Given the description of an element on the screen output the (x, y) to click on. 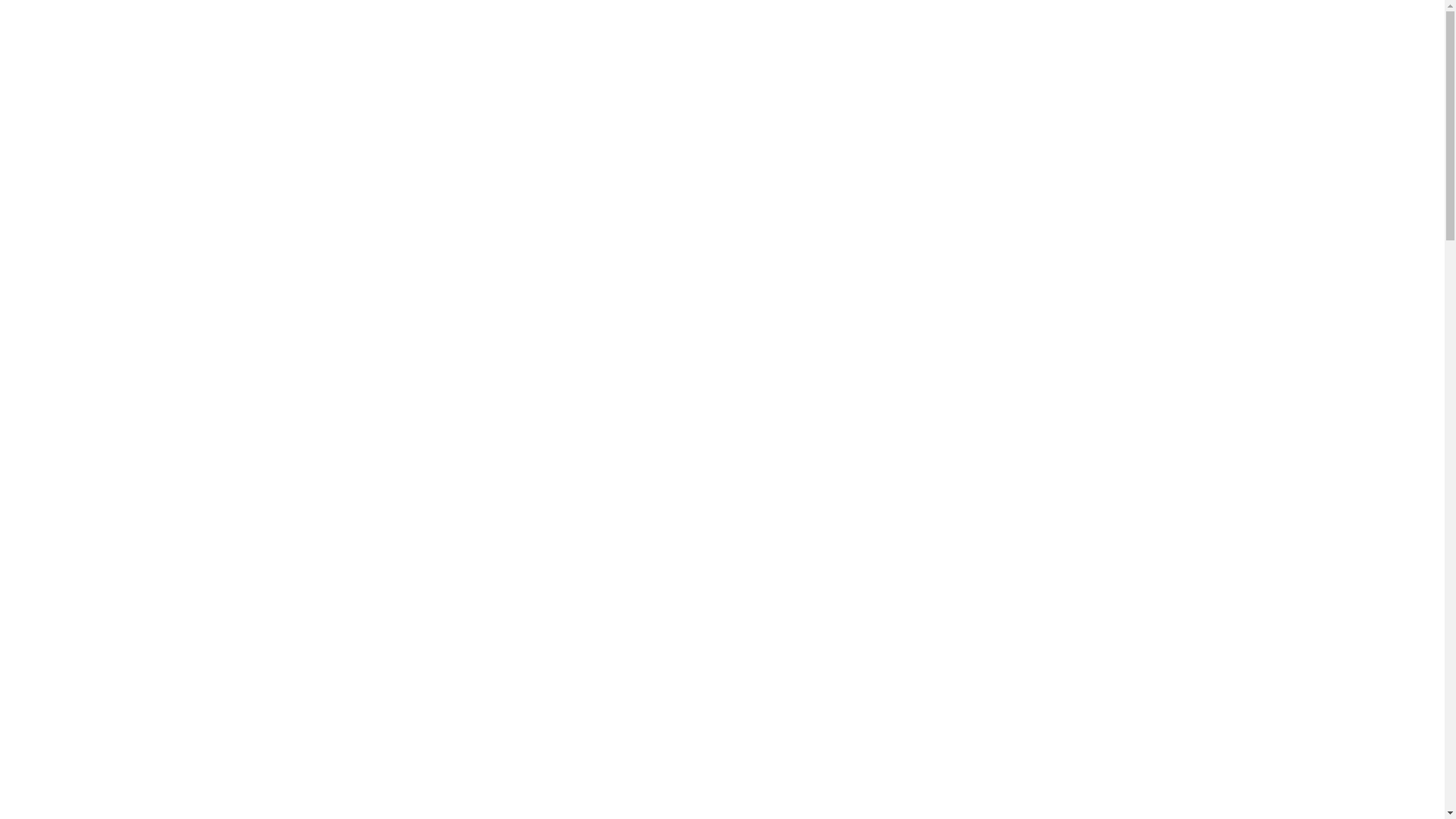
View Cart Element type: text (305, 584)
CALL 03 9397 3435 Element type: text (1116, 22)
0 Element type: text (259, 164)
Box Shop Element type: text (725, 354)
BOX SHOP Element type: text (975, 127)
Shop HOME Element type: text (312, 552)
GET A QUOTE Element type: text (875, 22)
STORAGE SERVICES Element type: text (856, 127)
PAY ACCOUNT Element type: text (761, 22)
Search Element type: text (467, 766)
CONTACT Element type: text (1141, 127)
Checkout Element type: text (304, 616)
My Account Element type: text (310, 647)
HOME Element type: text (749, 127)
BOOK ONLINE Element type: text (986, 22)
Home Element type: text (659, 354)
OTHER Element type: text (1058, 127)
Add to cart Element type: text (566, 791)
